Given the description of an element on the screen output the (x, y) to click on. 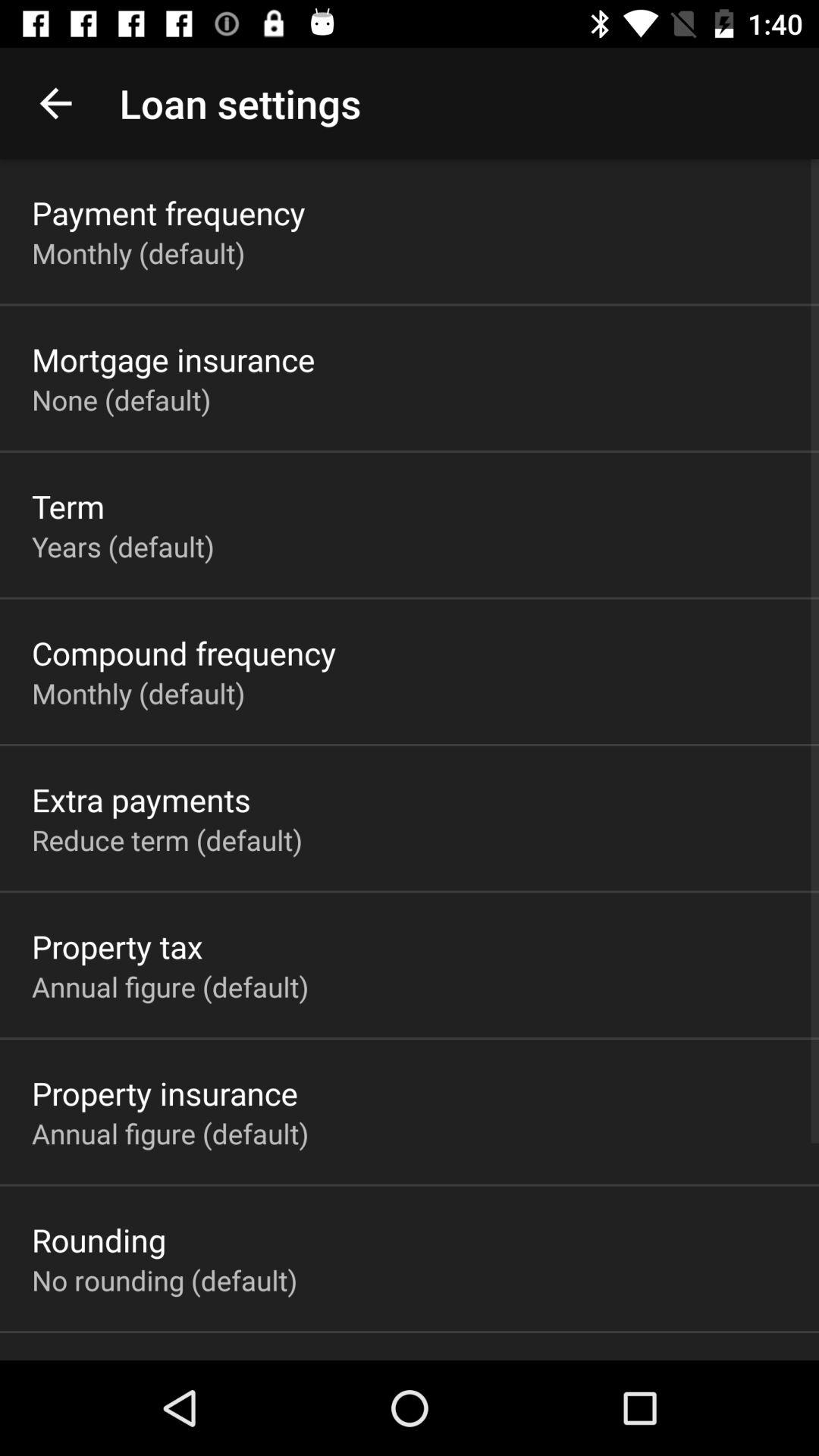
launch item below extra payments app (166, 839)
